Given the description of an element on the screen output the (x, y) to click on. 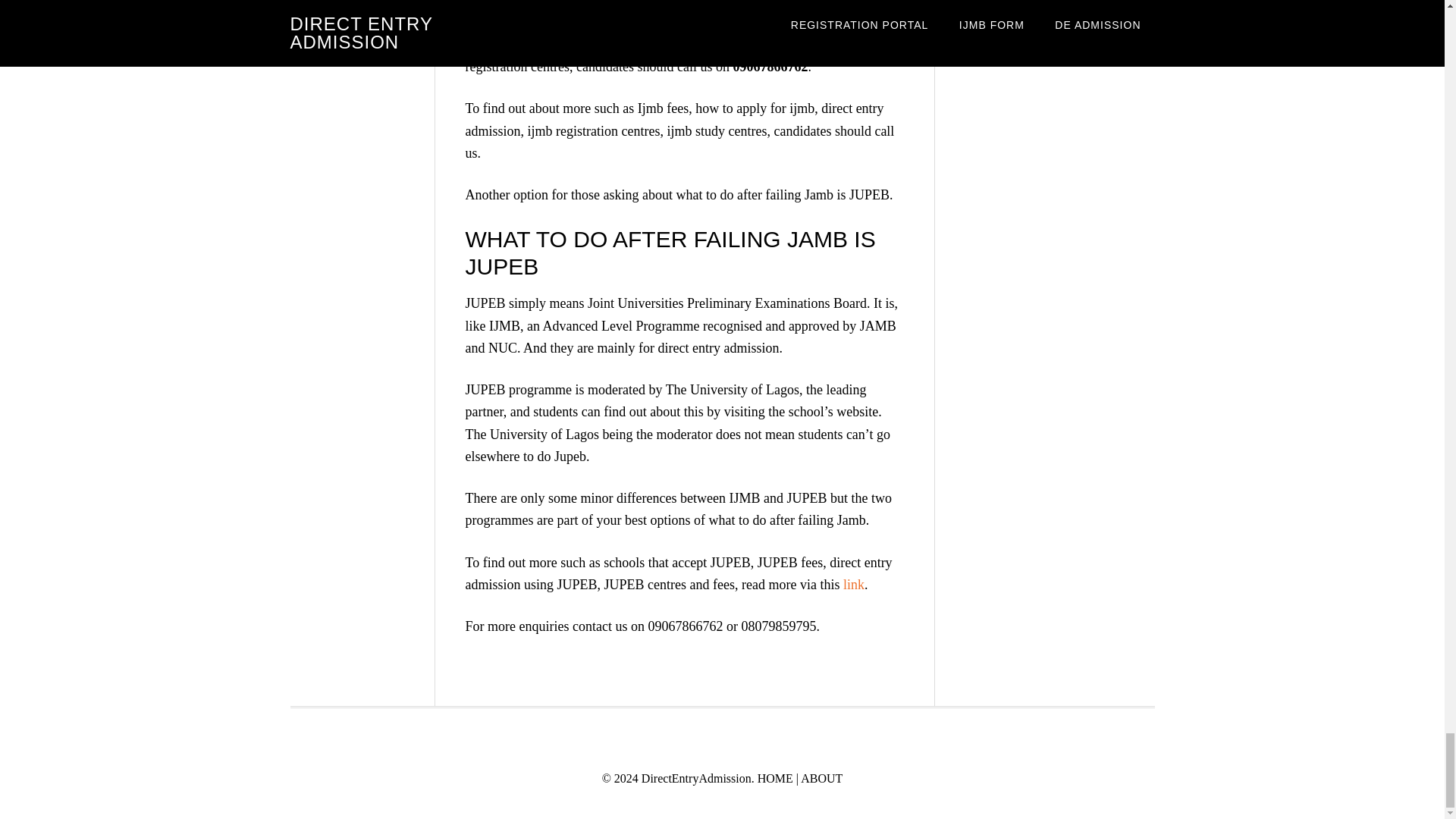
ABOUT (821, 778)
link (853, 584)
HOME (775, 778)
